Given the description of an element on the screen output the (x, y) to click on. 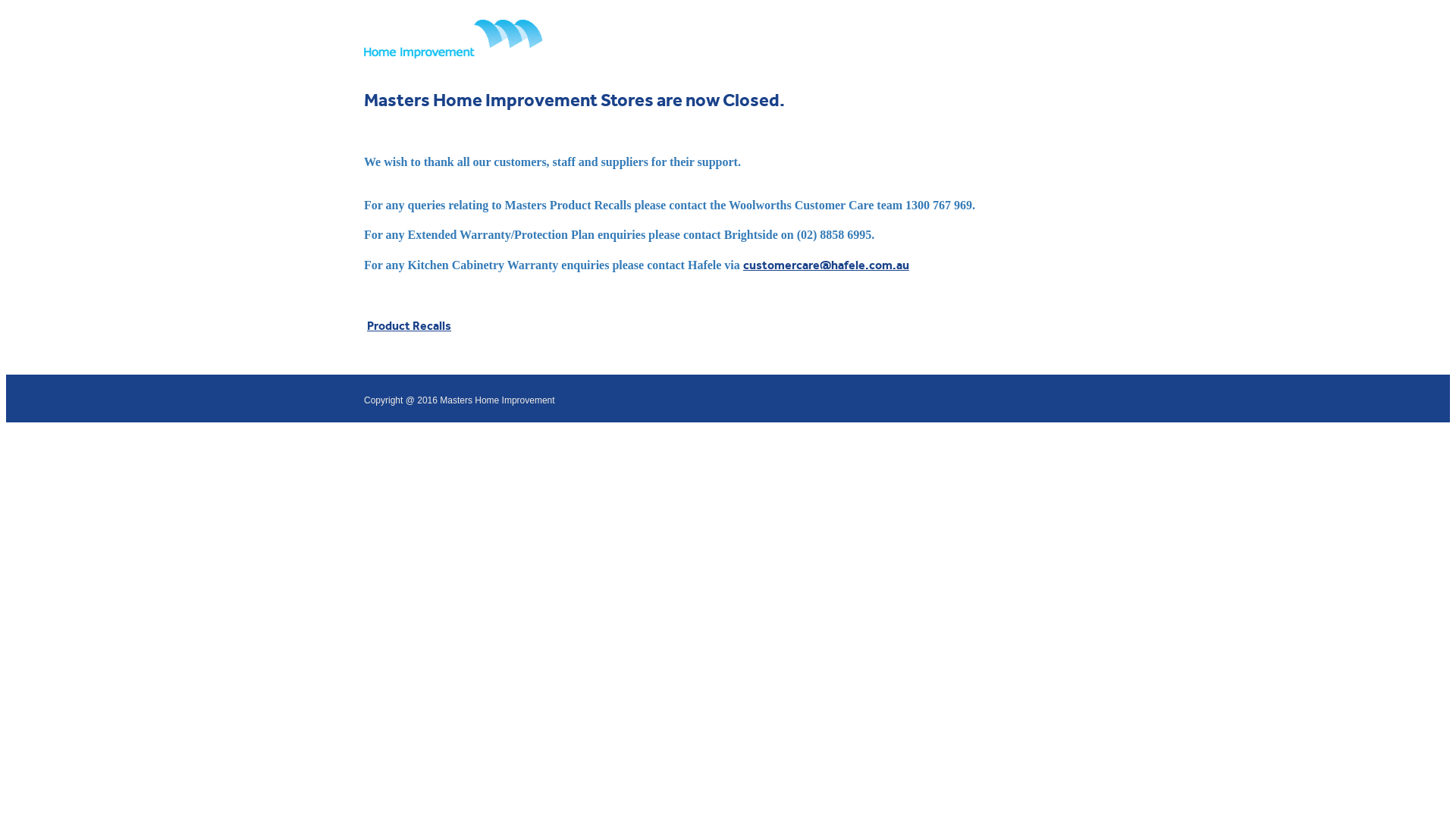
Product Recalls Element type: text (409, 325)
customercare@hafele.com.au Element type: text (826, 264)
